Given the description of an element on the screen output the (x, y) to click on. 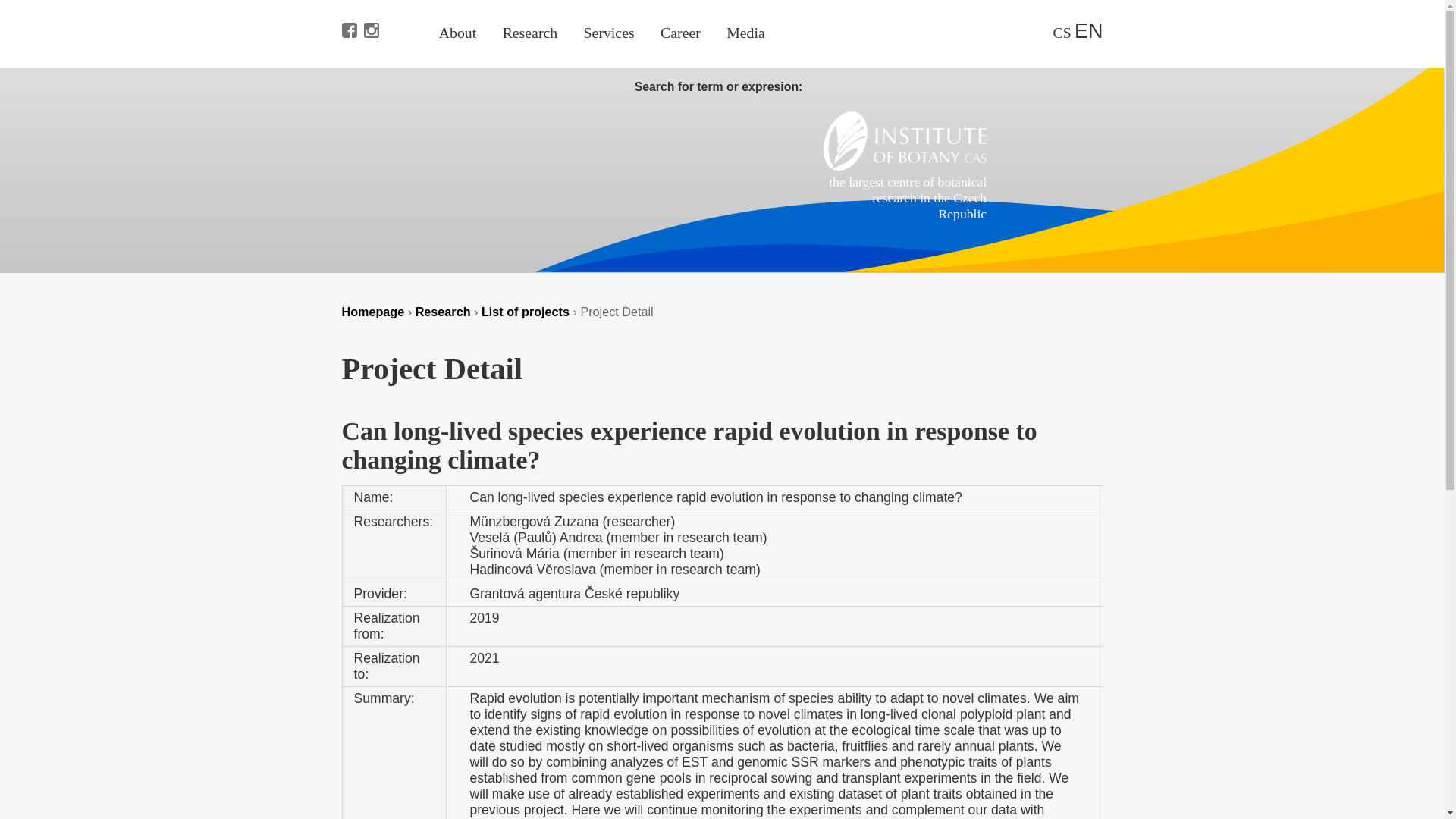
Career (680, 32)
Translate (1061, 32)
Visit Twitter (413, 7)
Research (442, 311)
Research (529, 32)
Media (745, 32)
Go to Homepage (372, 311)
Visit Facebook (346, 7)
Visit Instagram (368, 7)
Homepage (905, 165)
Services (608, 32)
Search web (1037, 29)
Current language (1088, 30)
About (458, 32)
List of projects (525, 311)
